Given the description of an element on the screen output the (x, y) to click on. 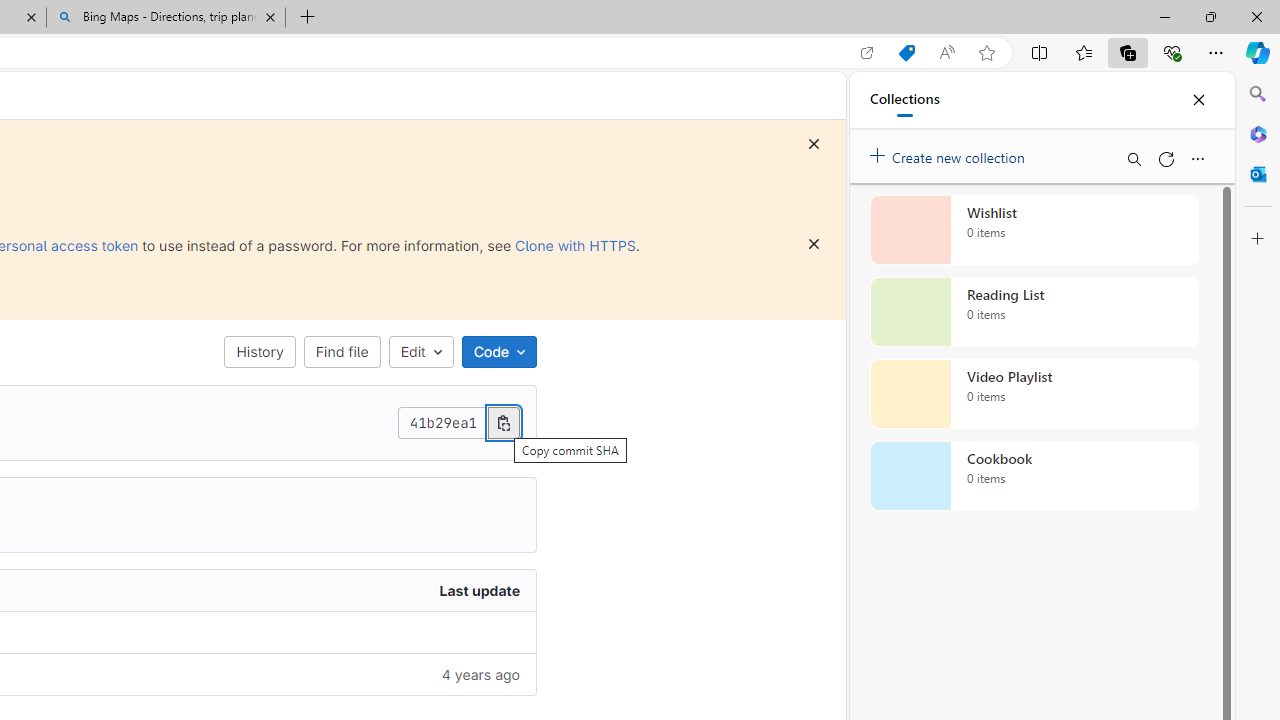
Find file (342, 351)
Copy commit SHA (503, 422)
Cookbook collection, 0 items (1034, 475)
Dismiss (813, 243)
Video Playlist collection, 0 items (1034, 394)
4 years ago (289, 674)
Code (498, 351)
